Given the description of an element on the screen output the (x, y) to click on. 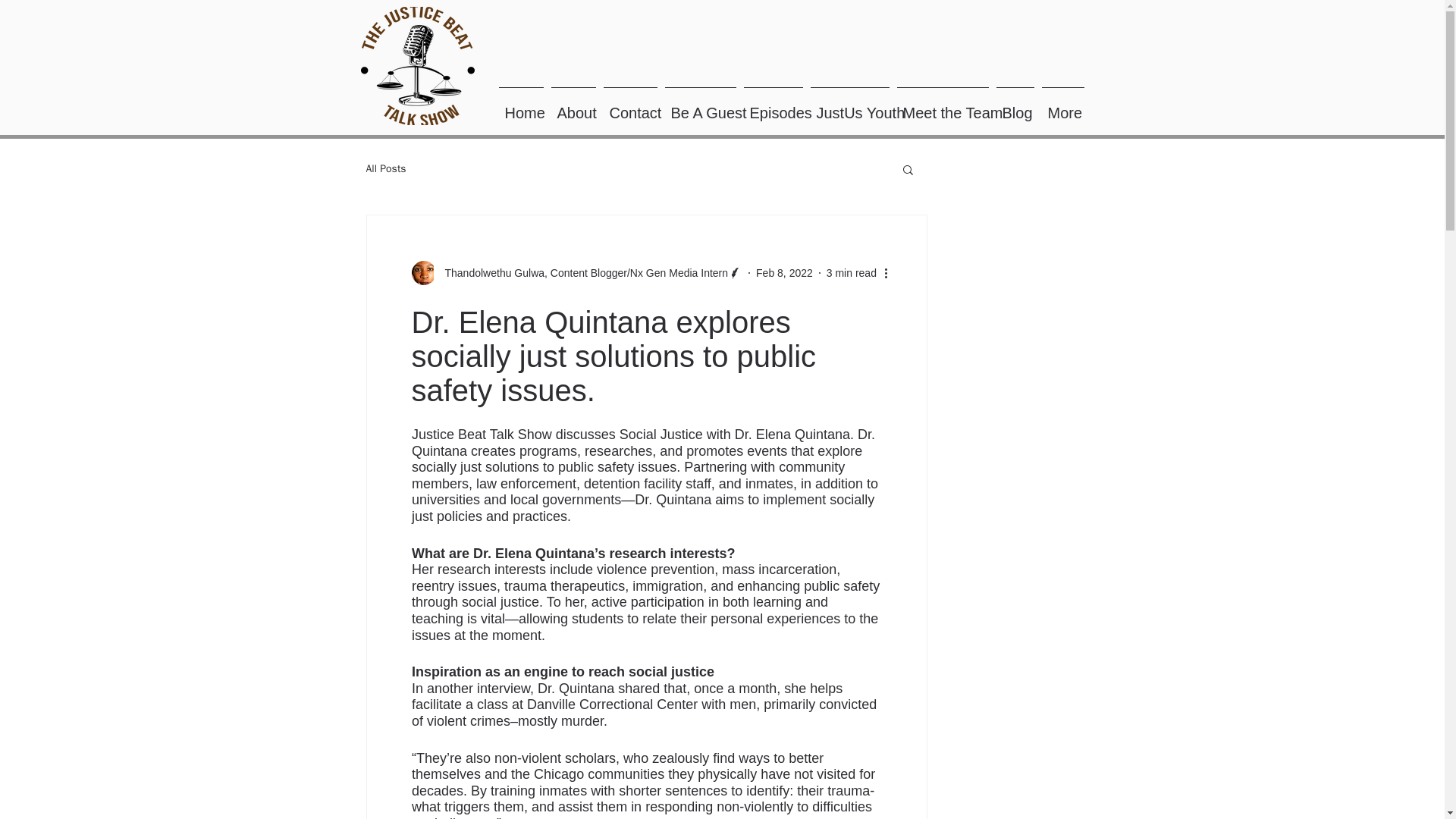
Episodes (772, 105)
Feb 8, 2022 (783, 272)
All Posts (385, 169)
3 min read (851, 272)
Home (521, 105)
Meet the Team (942, 105)
Contact (629, 105)
About (573, 105)
JustUs Youth (849, 105)
Blog (1013, 105)
Be A Guest (700, 105)
